Given the description of an element on the screen output the (x, y) to click on. 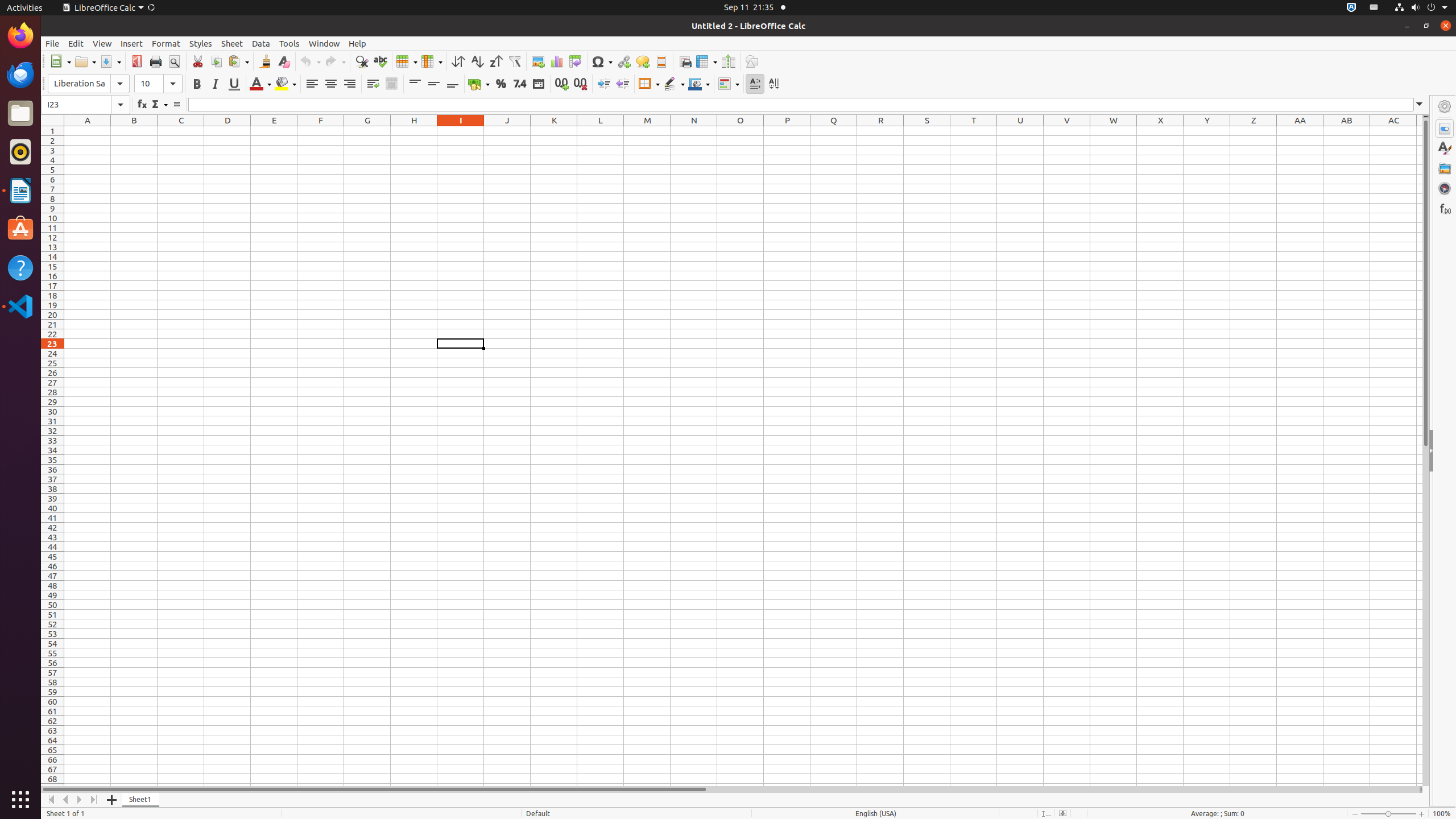
Y1 Element type: table-cell (1206, 130)
Properties Element type: radio-button (1444, 128)
Properties Element type: panel (1444, 450)
Comment Element type: push-button (642, 61)
